Given the description of an element on the screen output the (x, y) to click on. 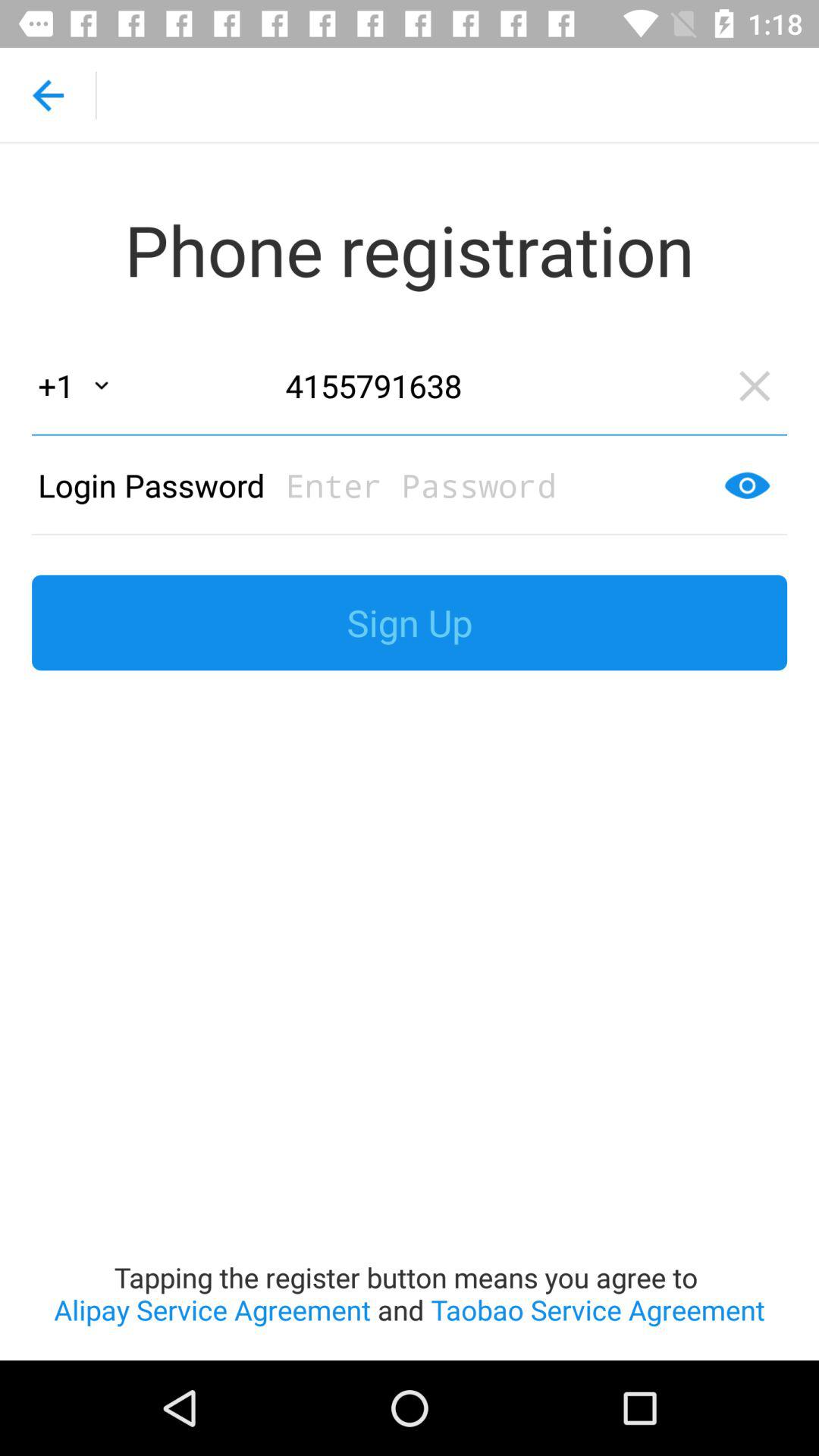
open item below sign up icon (409, 1024)
